Given the description of an element on the screen output the (x, y) to click on. 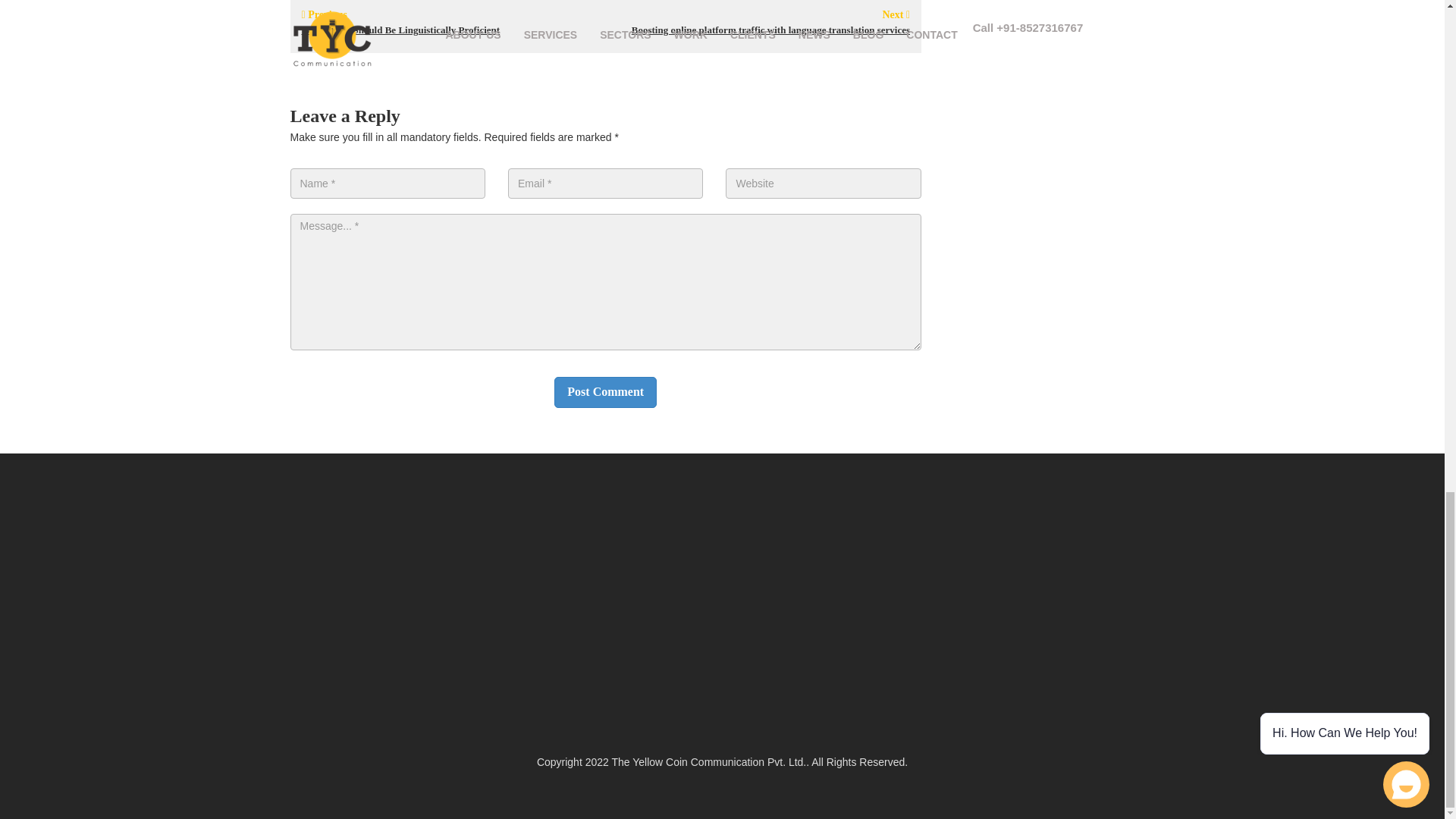
Why Banks Should Be Linguistically Proficient (400, 30)
Post Comment (605, 391)
